Given the description of an element on the screen output the (x, y) to click on. 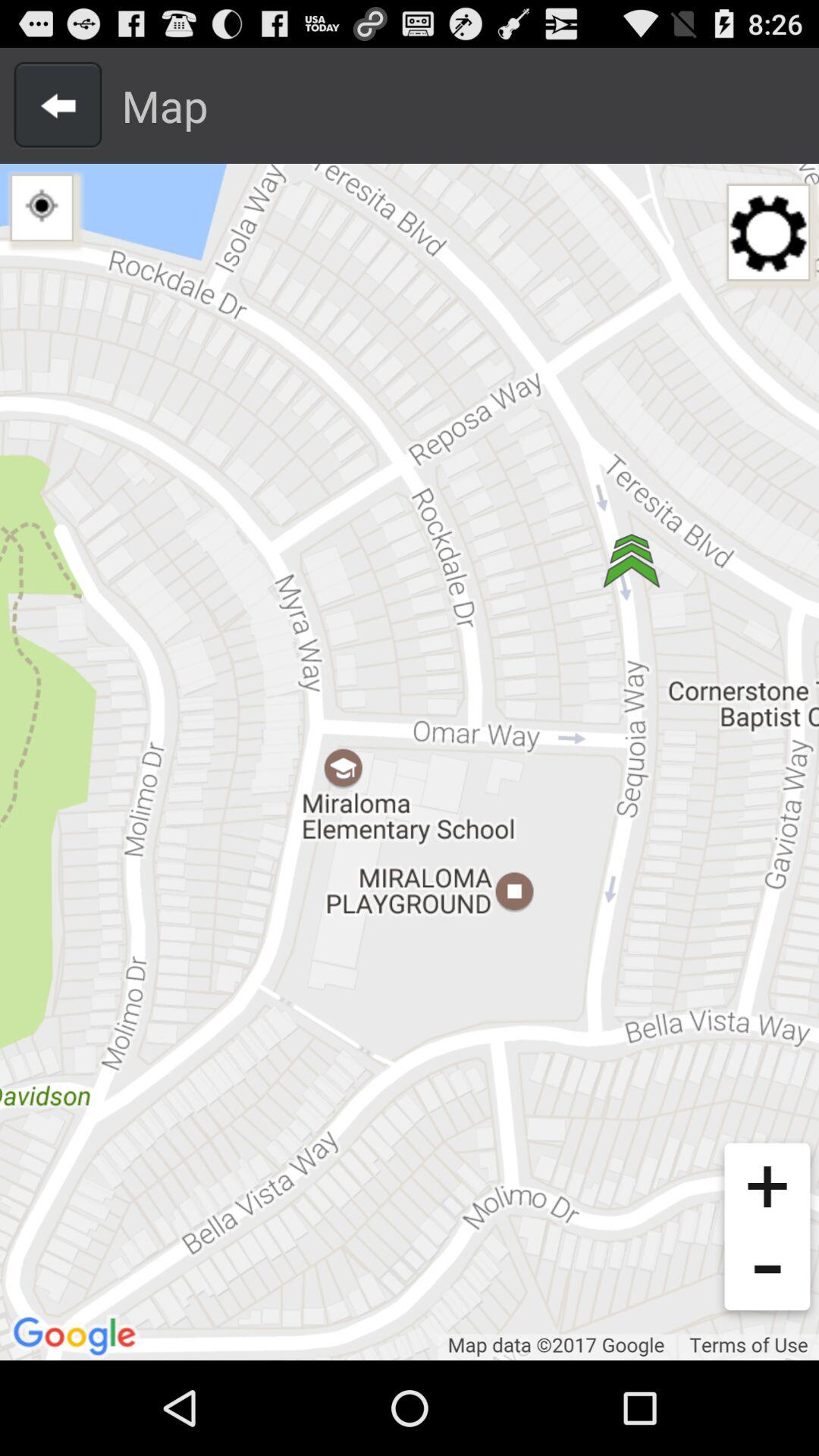
go back (57, 105)
